Given the description of an element on the screen output the (x, y) to click on. 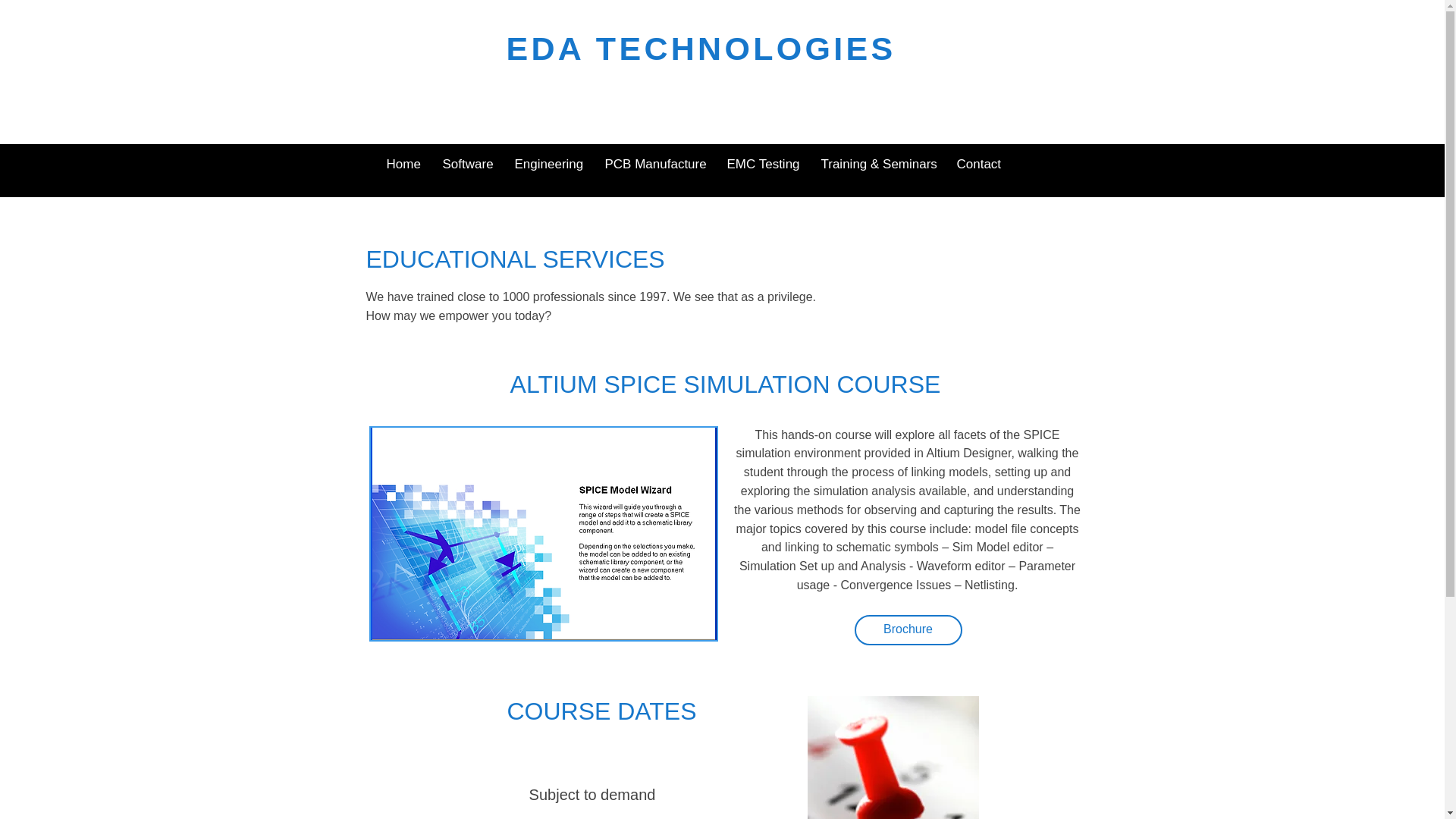
EMC Testing (762, 163)
PCB Manufacture (653, 163)
Home (402, 163)
Software (466, 163)
Engineering (548, 163)
calendar-1.jpg (892, 757)
Contact (977, 163)
Brochure (906, 630)
